Given the description of an element on the screen output the (x, y) to click on. 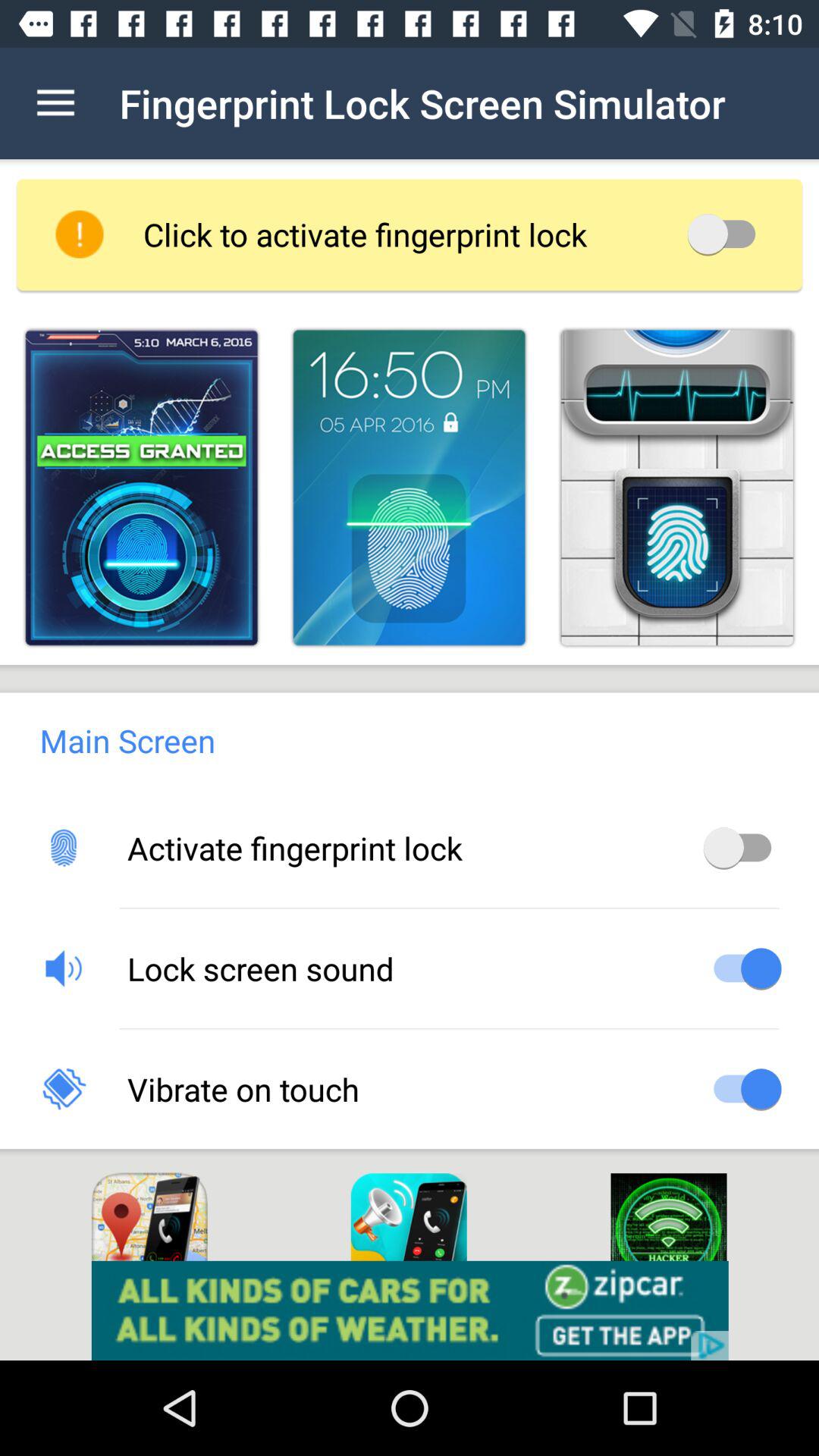
fingerprinter template (409, 487)
